Given the description of an element on the screen output the (x, y) to click on. 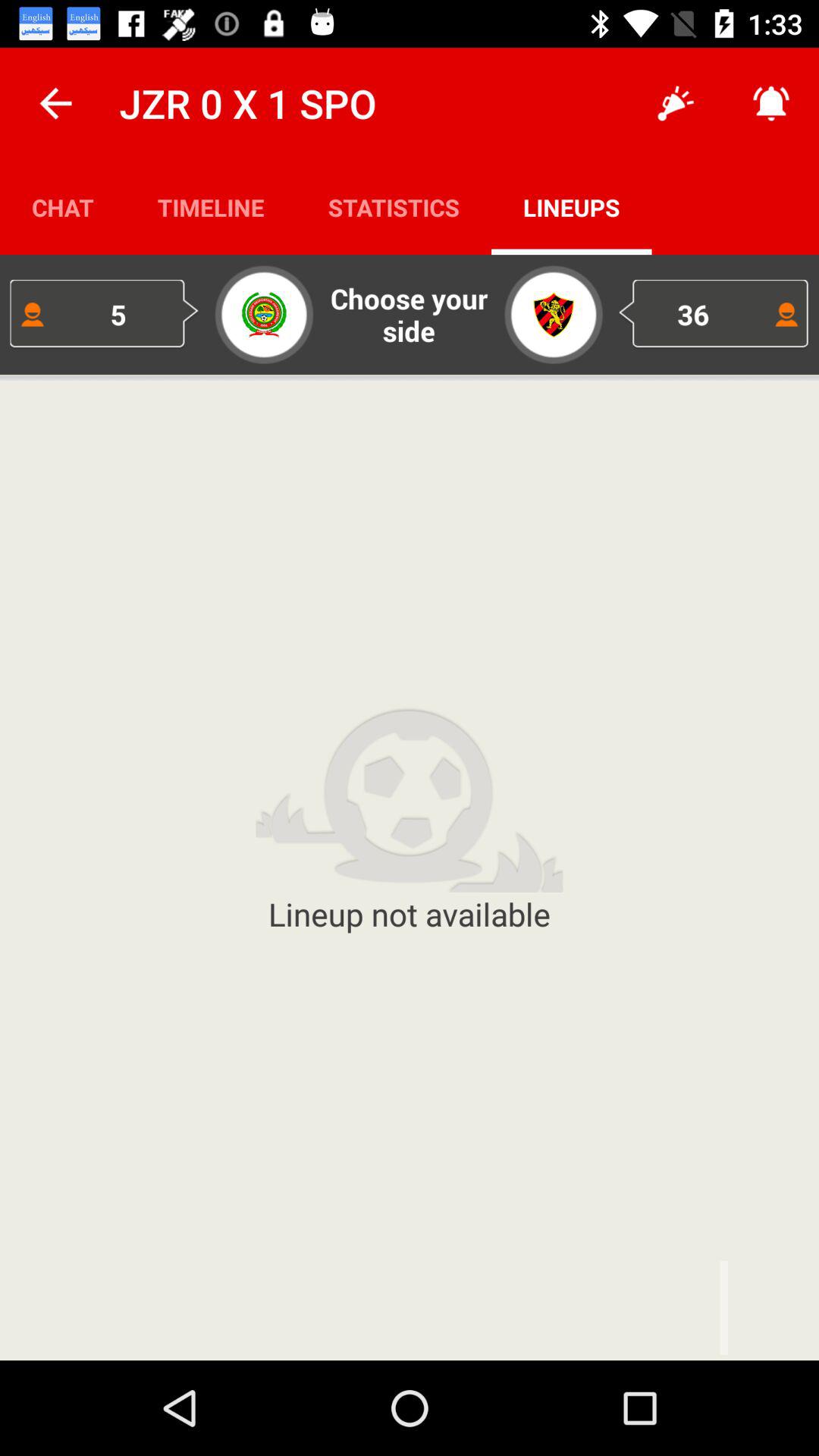
turn on the icon to the left of the jzr 0 x item (55, 103)
